Given the description of an element on the screen output the (x, y) to click on. 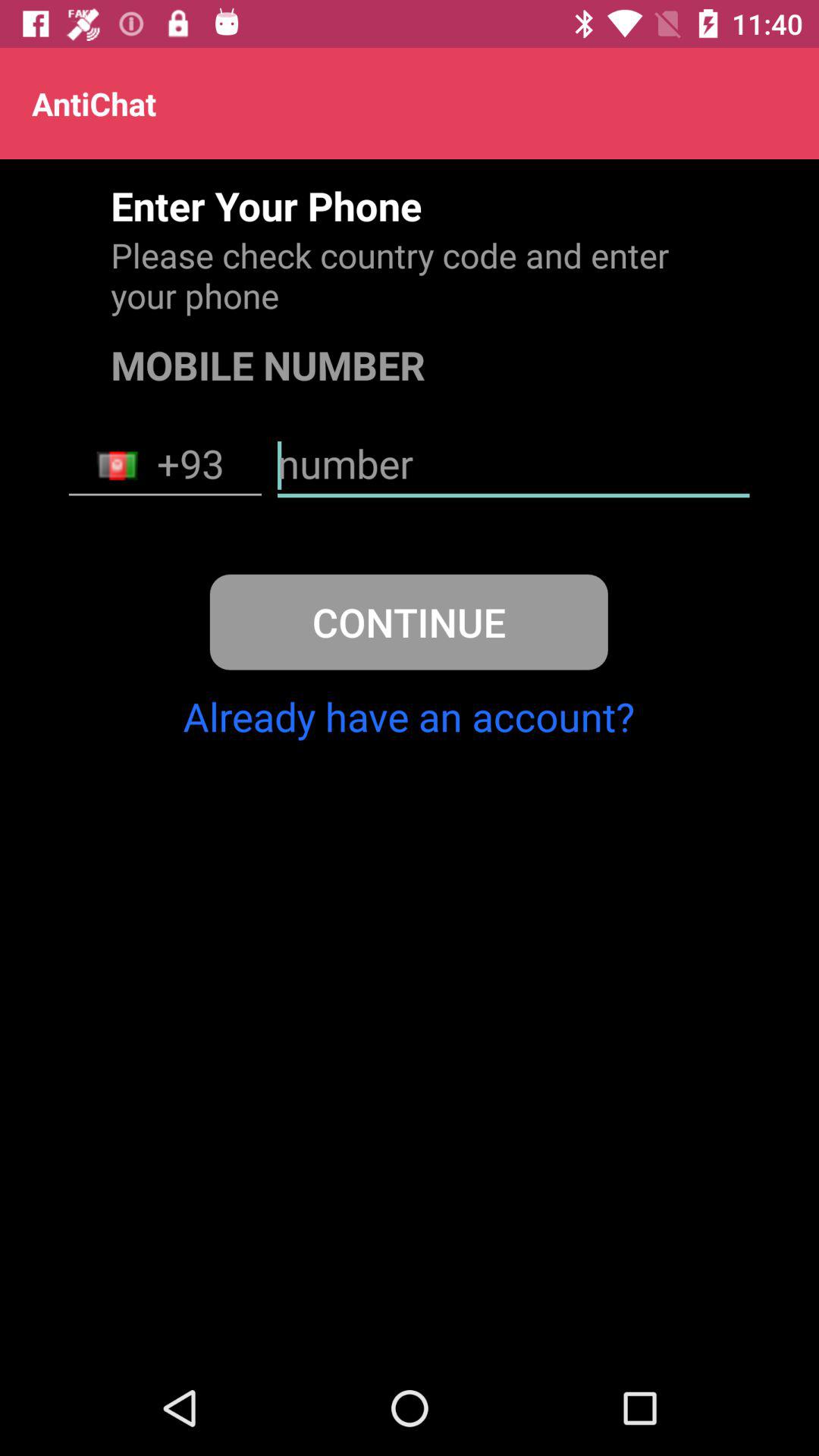
flip until continue icon (408, 621)
